Given the description of an element on the screen output the (x, y) to click on. 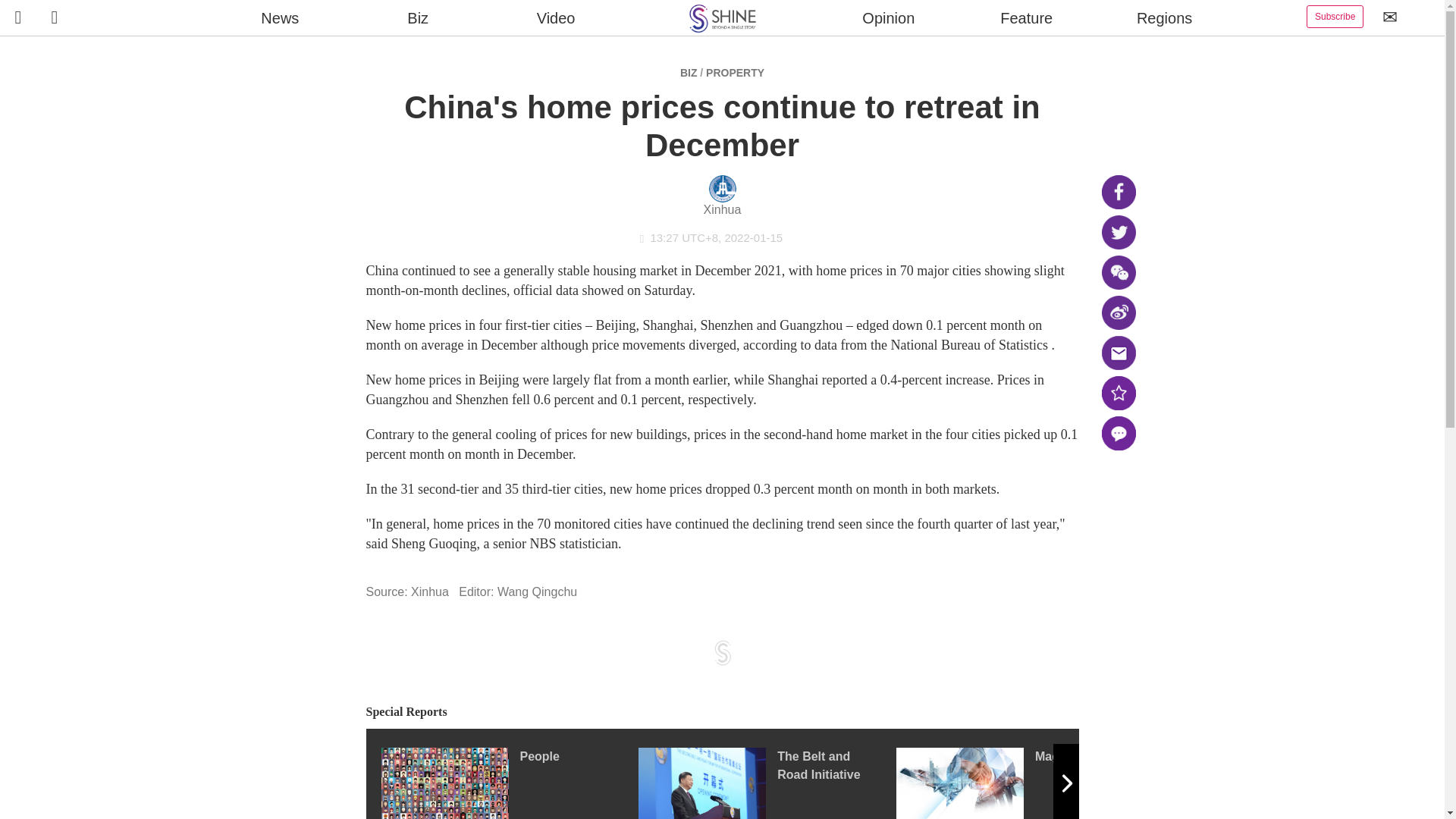
The Belt and Road Initiative (767, 783)
PROPERTY (735, 72)
BIZ (688, 72)
Add to favorites (1117, 392)
Share your comments (1117, 433)
Share via email (1117, 352)
Special Reports (721, 712)
People (508, 783)
MagHub (1024, 783)
